Given the description of an element on the screen output the (x, y) to click on. 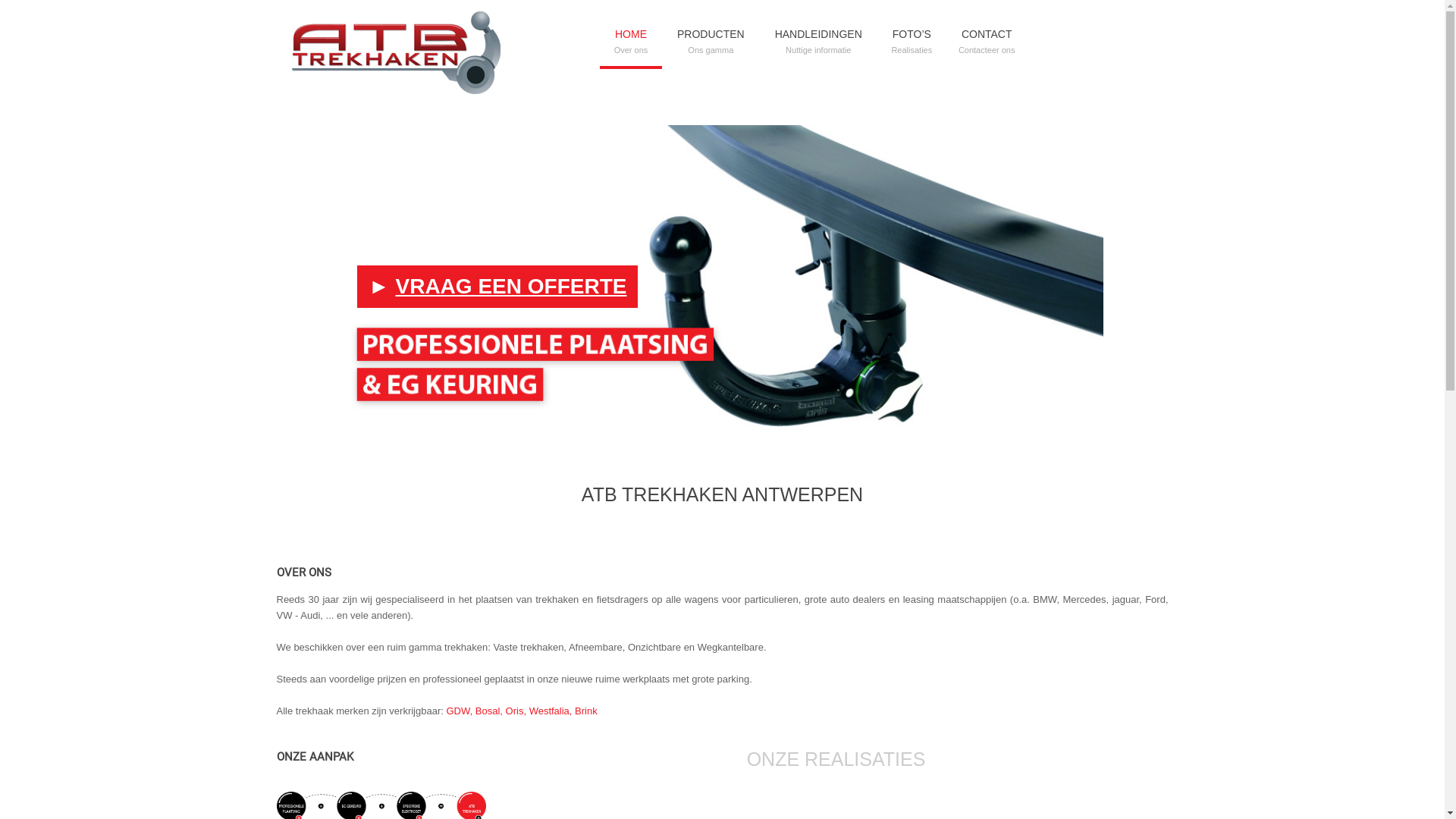
VRAAG EEN OFFERTE Element type: text (510, 286)
HANDLEIDINGEN
Nuttige informatie Element type: text (818, 32)
CONTACT
Contacteer ons Element type: text (986, 32)
Oris Element type: text (514, 710)
Westfalia Element type: text (549, 710)
Brink Element type: text (585, 710)
Bosal Element type: text (487, 710)
PRODUCTEN
Ons gamma Element type: text (710, 32)
GDW Element type: text (457, 710)
HOME
Over ons Element type: text (630, 32)
